Given the description of an element on the screen output the (x, y) to click on. 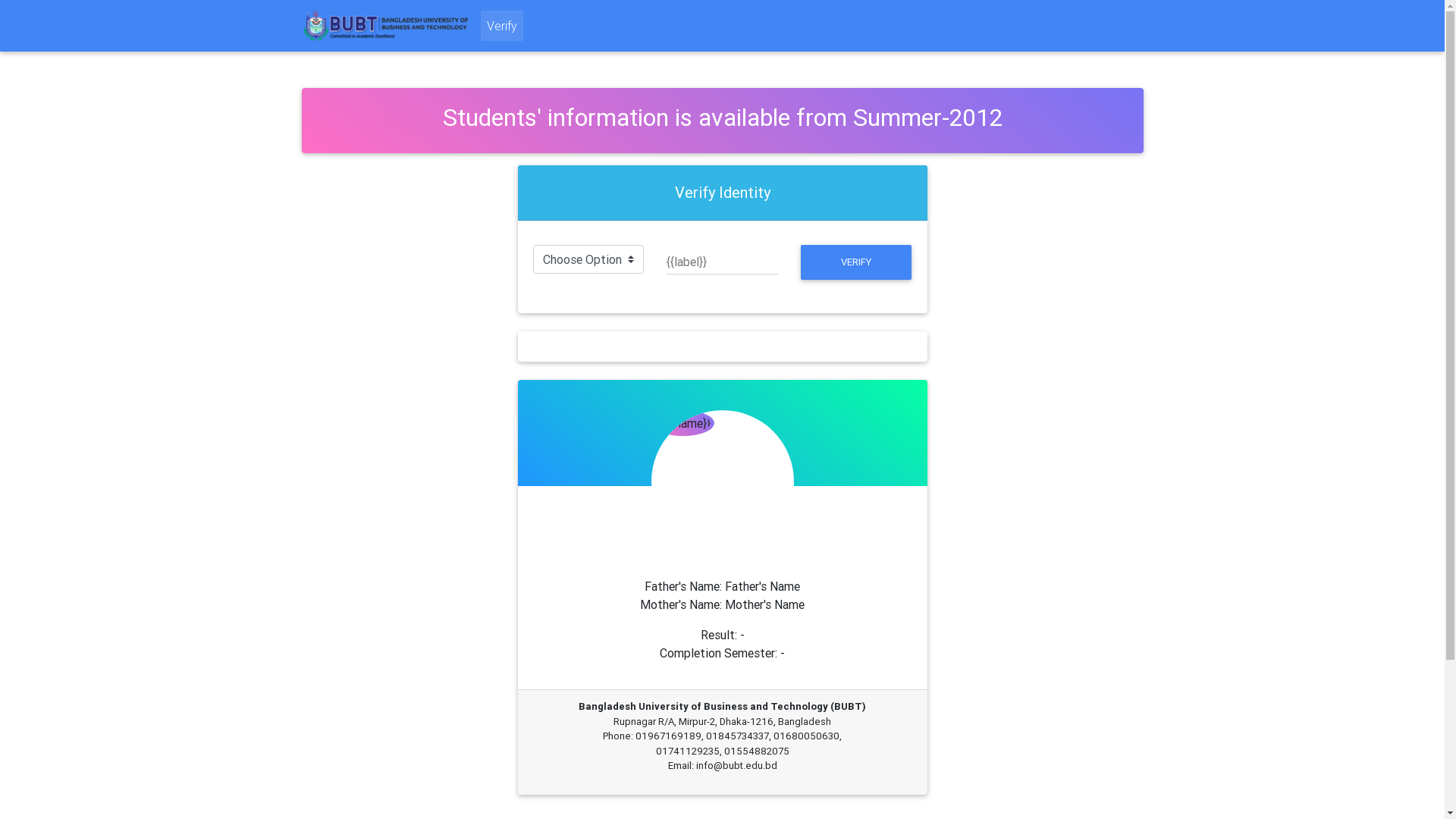
VERIFY Element type: text (856, 261)
Verify
(current) Element type: text (501, 25)
